Given the description of an element on the screen output the (x, y) to click on. 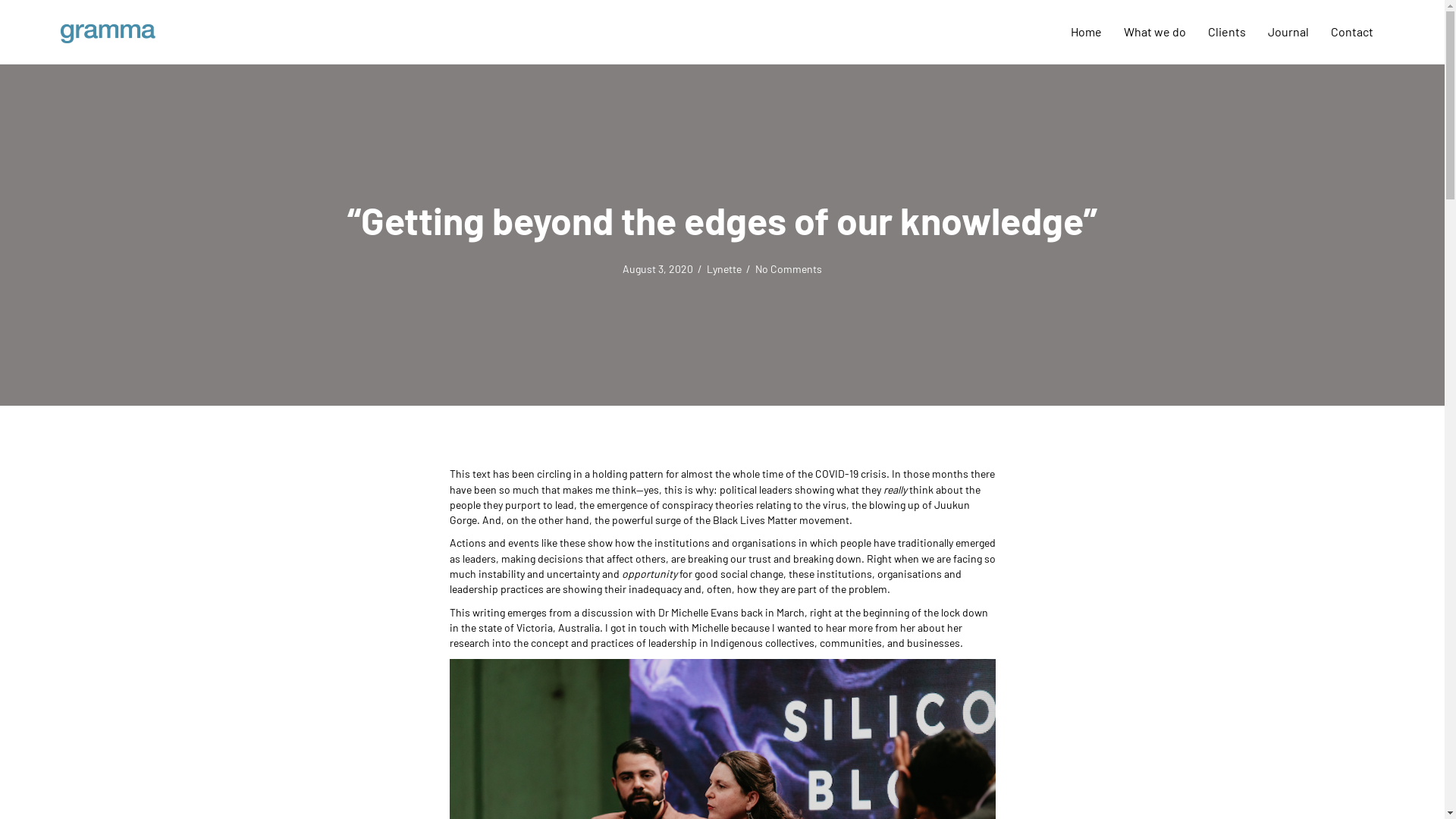
What we do Element type: text (1154, 31)
Journal Element type: text (1288, 31)
No Comments Element type: text (788, 268)
Clients Element type: text (1226, 31)
gramma-logo-50 Element type: hover (107, 33)
Home Element type: text (1086, 31)
Lynette Element type: text (723, 268)
Contact Element type: text (1351, 31)
